Given the description of an element on the screen output the (x, y) to click on. 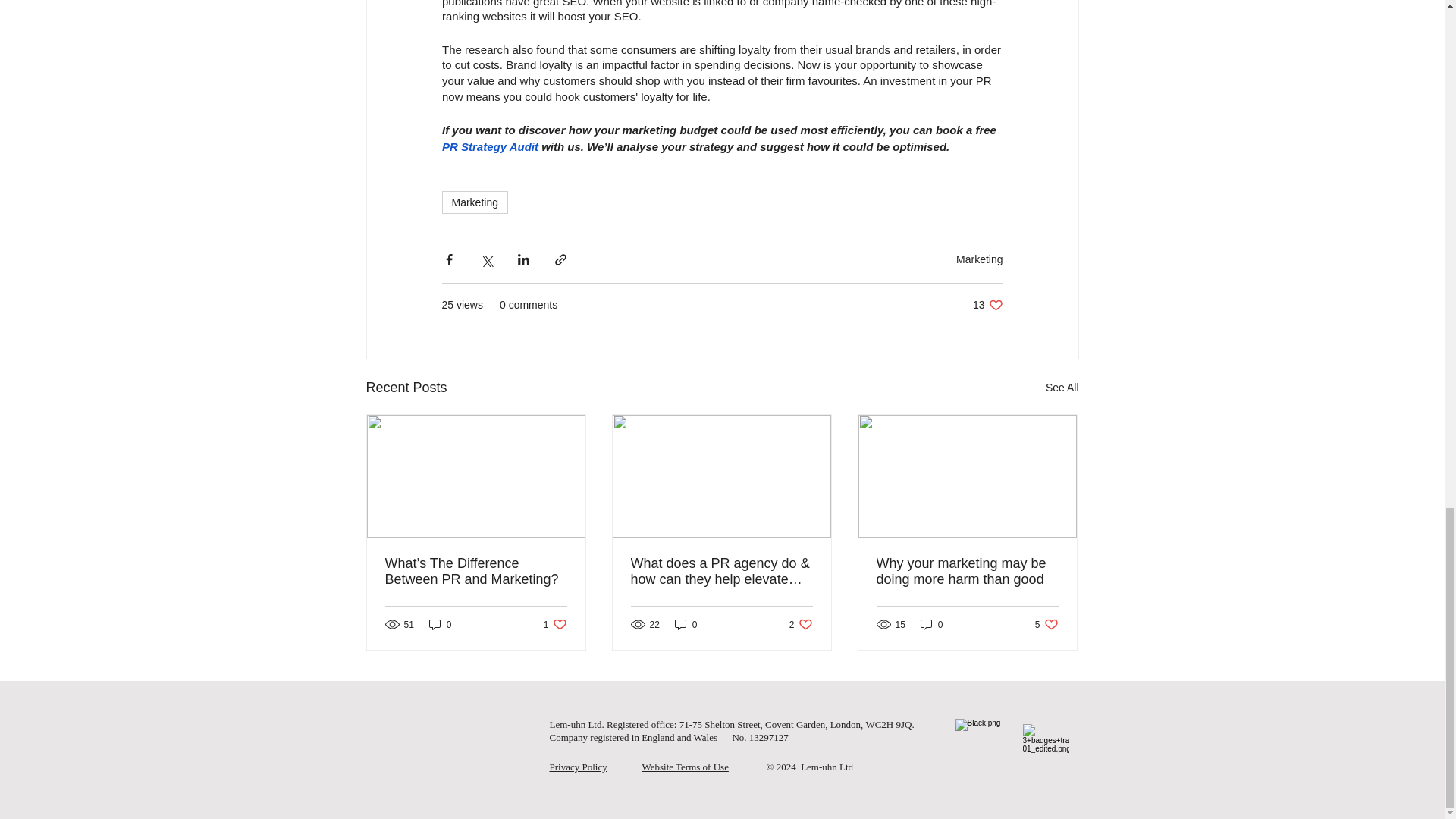
0 (440, 624)
0 (685, 624)
See All (987, 305)
Marketing (1061, 387)
PR Strategy Audit (979, 259)
Marketing (489, 146)
